Given the description of an element on the screen output the (x, y) to click on. 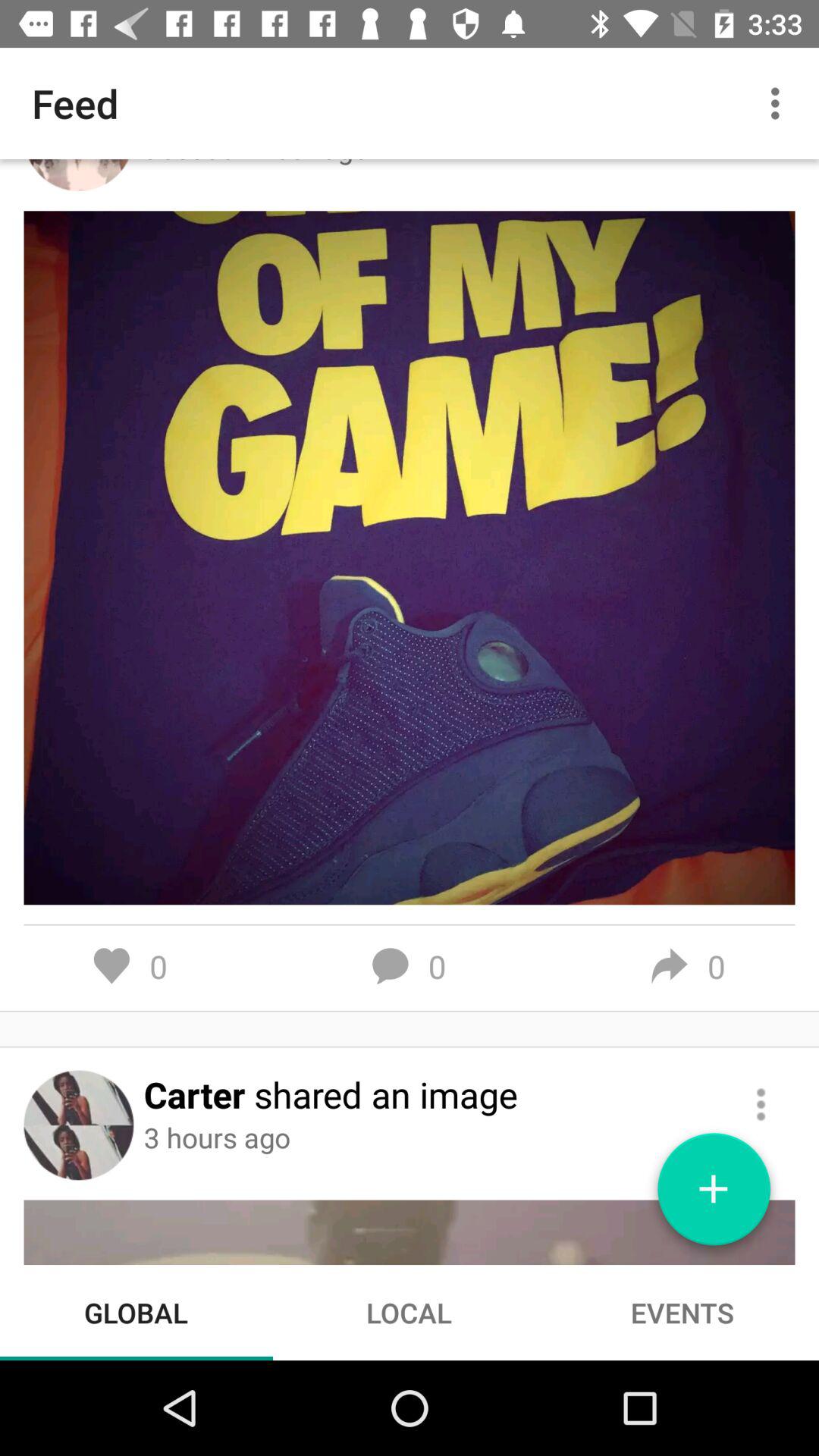
share image (760, 1104)
